Given the description of an element on the screen output the (x, y) to click on. 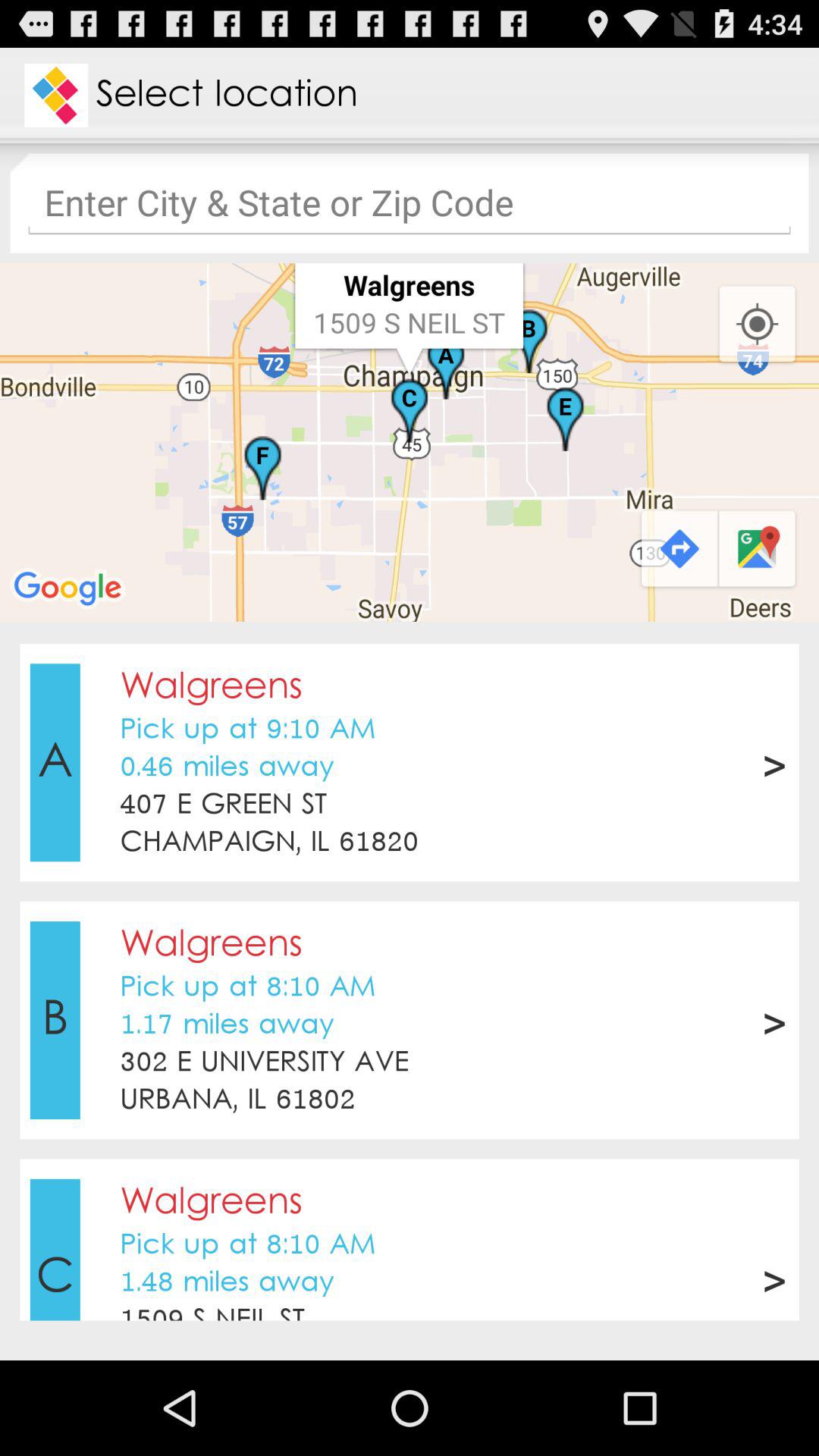
turn off the icon at the bottom (409, 1129)
